Given the description of an element on the screen output the (x, y) to click on. 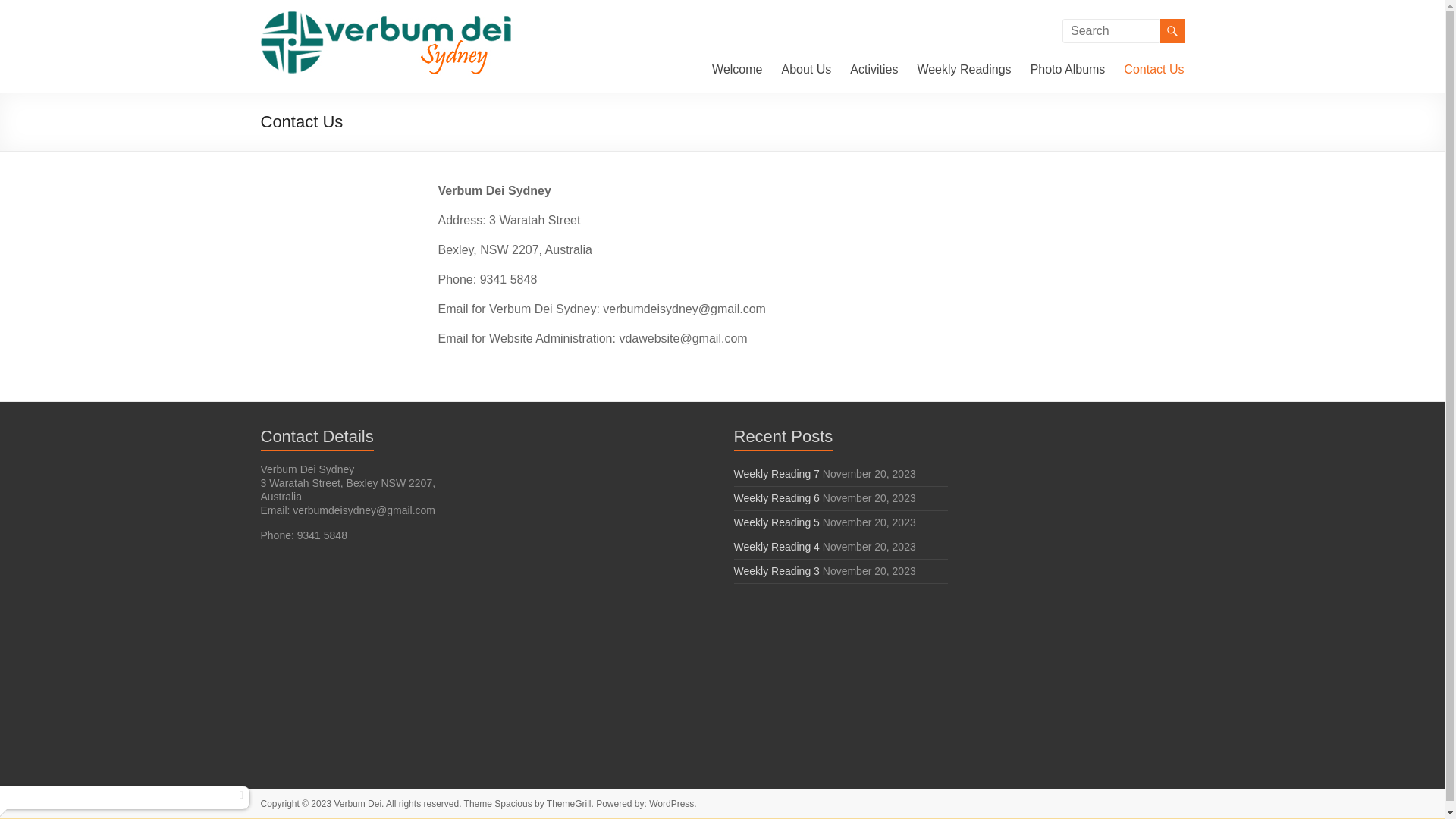
Activities Element type: text (873, 69)
Welcome Element type: text (737, 69)
About Us Element type: text (806, 69)
Weekly Reading 6 Element type: text (776, 498)
Weekly Reading 4 Element type: text (776, 546)
Weekly Reading 7 Element type: text (776, 473)
Verbum Dei Element type: text (357, 803)
Weekly Reading 3 Element type: text (776, 570)
Contact Us Element type: text (1153, 69)
Photo Albums Element type: text (1067, 69)
Spacious Element type: text (512, 803)
Weekly Readings Element type: text (963, 69)
Verbum Dei Element type: text (306, 45)
Weekly Reading 5 Element type: text (776, 522)
WordPress Element type: text (671, 803)
